Given the description of an element on the screen output the (x, y) to click on. 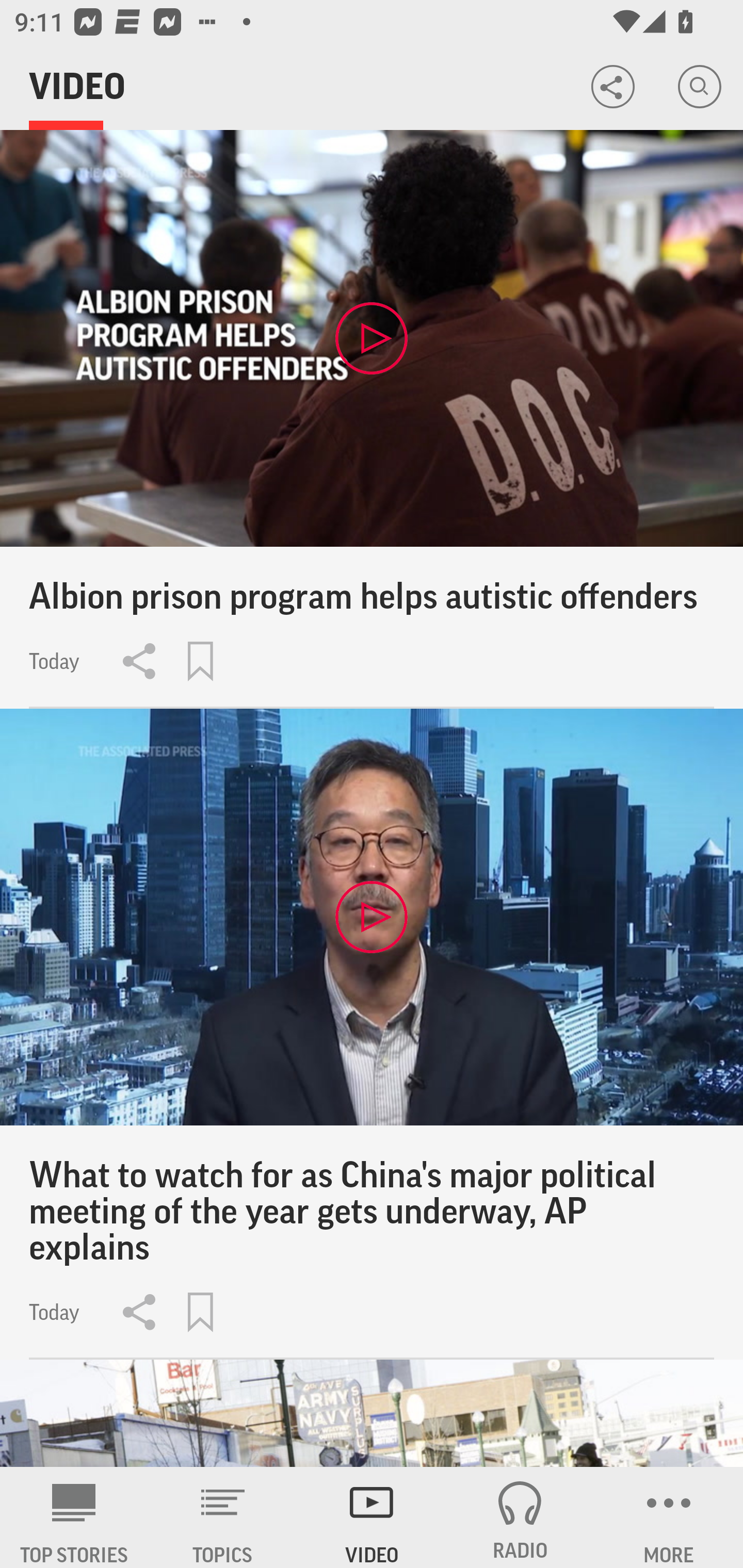
AP News TOP STORIES (74, 1517)
TOPICS (222, 1517)
VIDEO (371, 1517)
RADIO (519, 1517)
MORE (668, 1517)
